Given the description of an element on the screen output the (x, y) to click on. 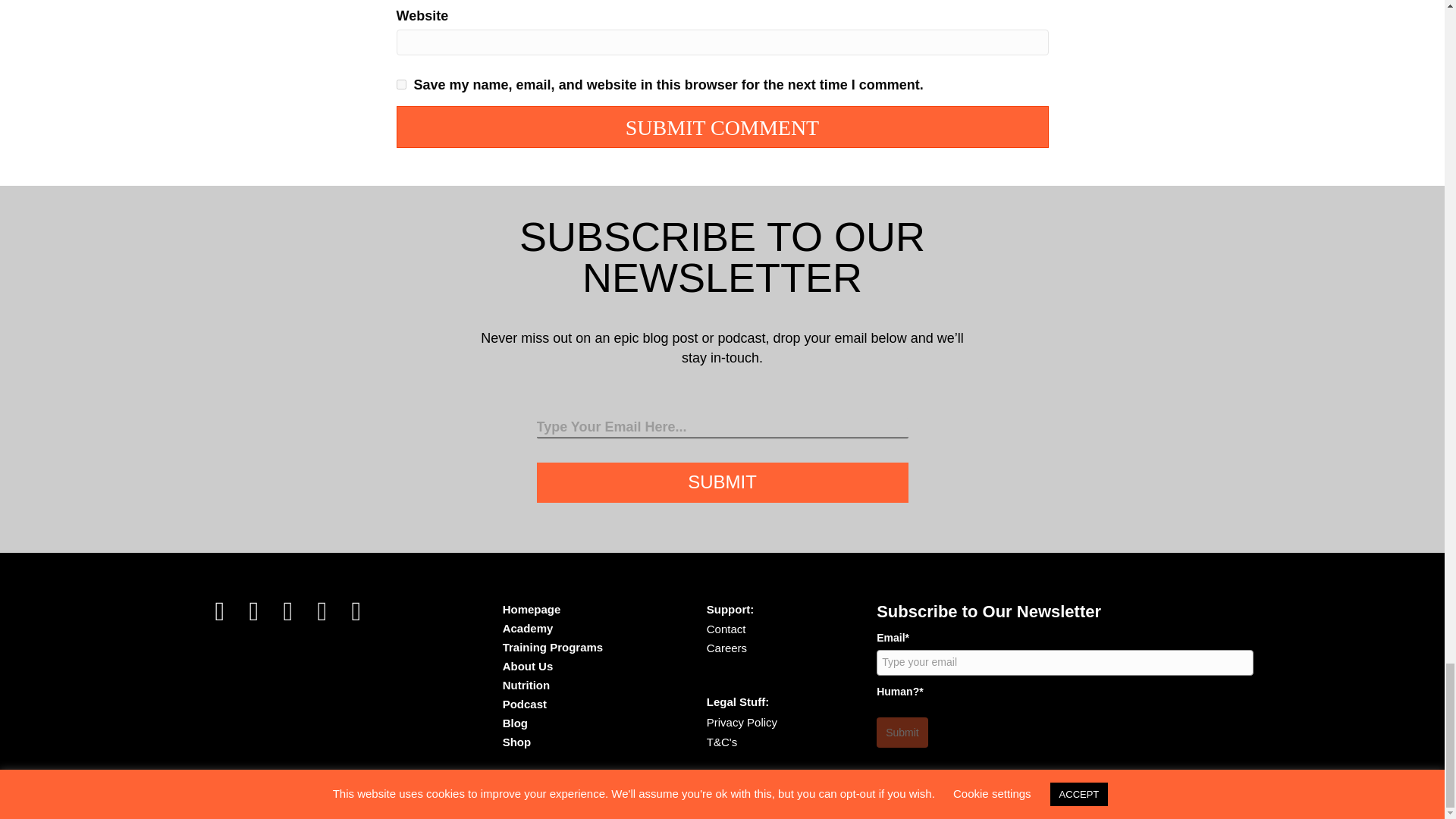
Submit (722, 482)
Submit Comment (722, 127)
yes (401, 84)
